Given the description of an element on the screen output the (x, y) to click on. 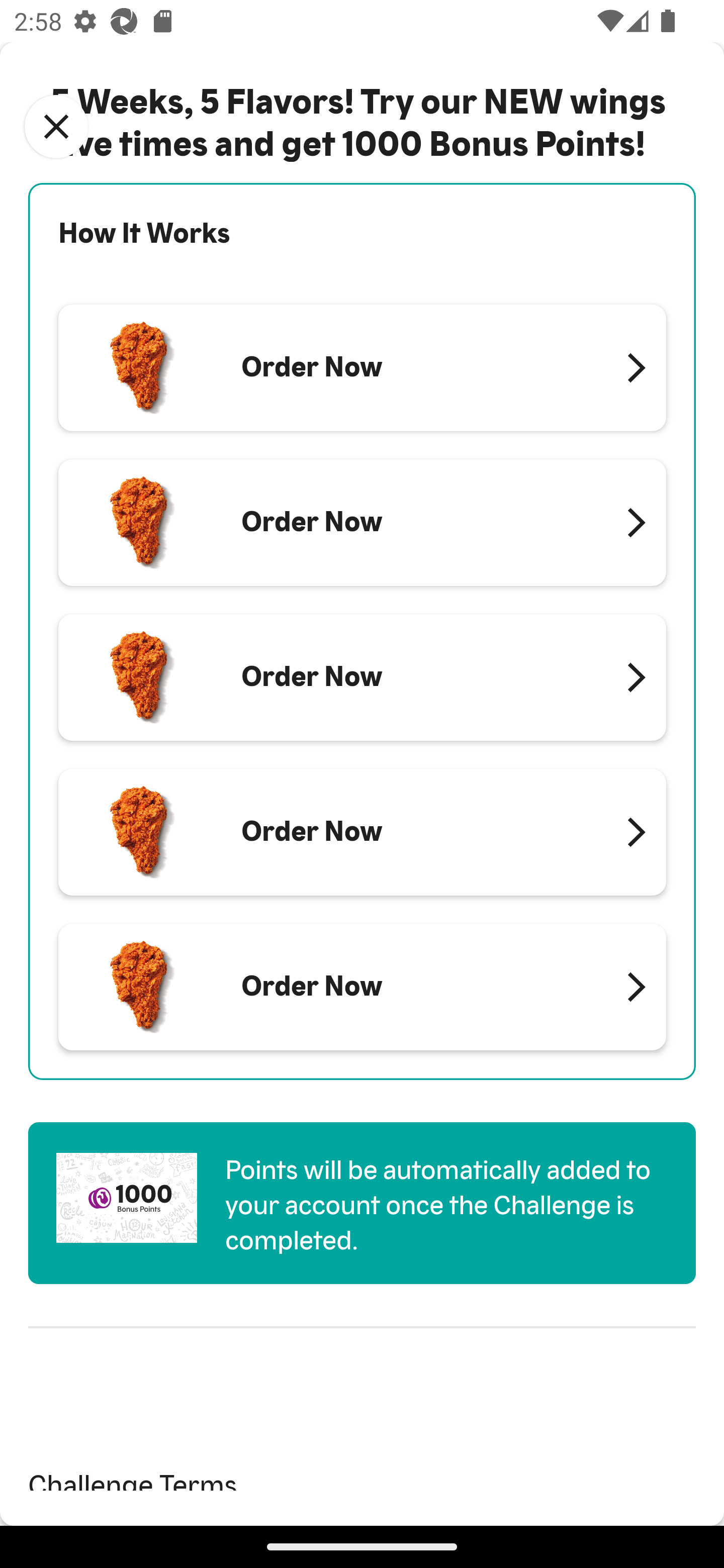
Close  (56, 126)
Order Now (362, 367)
Order Now (362, 522)
Order Now (362, 677)
Order Now (362, 831)
Order Now (362, 986)
